Given the description of an element on the screen output the (x, y) to click on. 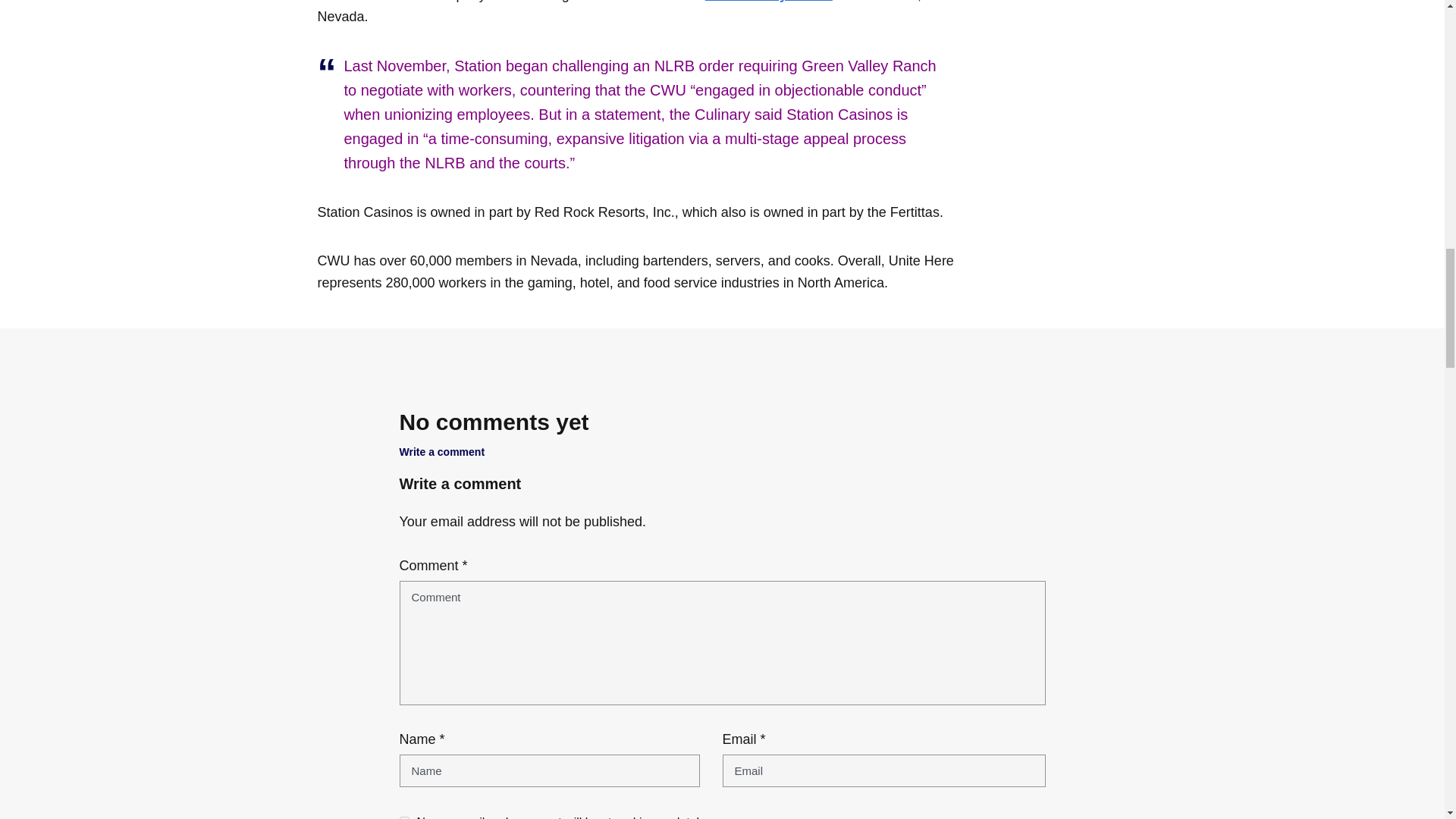
Green Valley Ranch (768, 1)
